Given the description of an element on the screen output the (x, y) to click on. 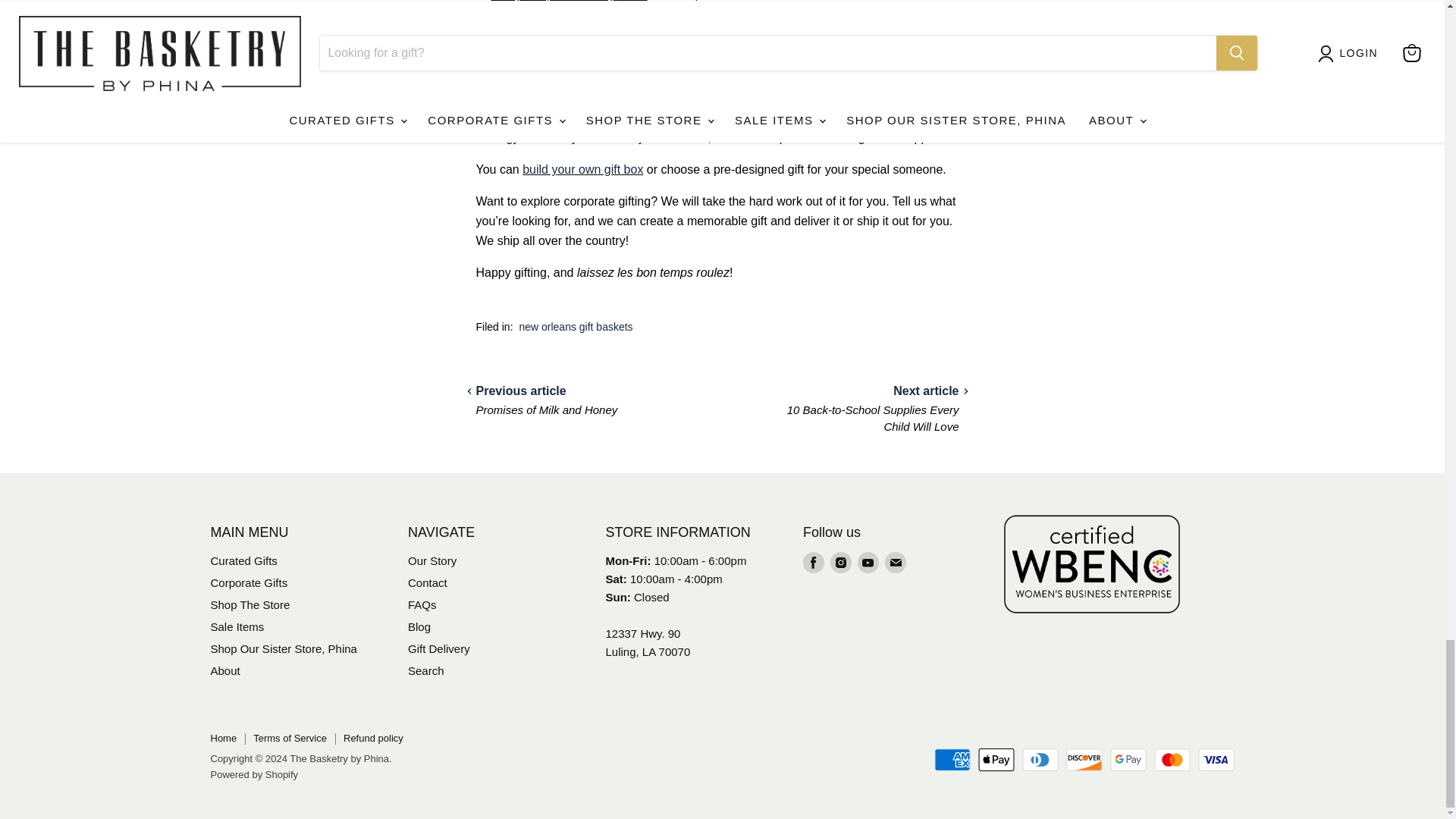
Instagram (840, 562)
Email (895, 562)
Facebook (813, 562)
American Express (952, 759)
Apple Pay (996, 759)
Show articles tagged new orleans gift baskets (574, 326)
Youtube (868, 562)
